Given the description of an element on the screen output the (x, y) to click on. 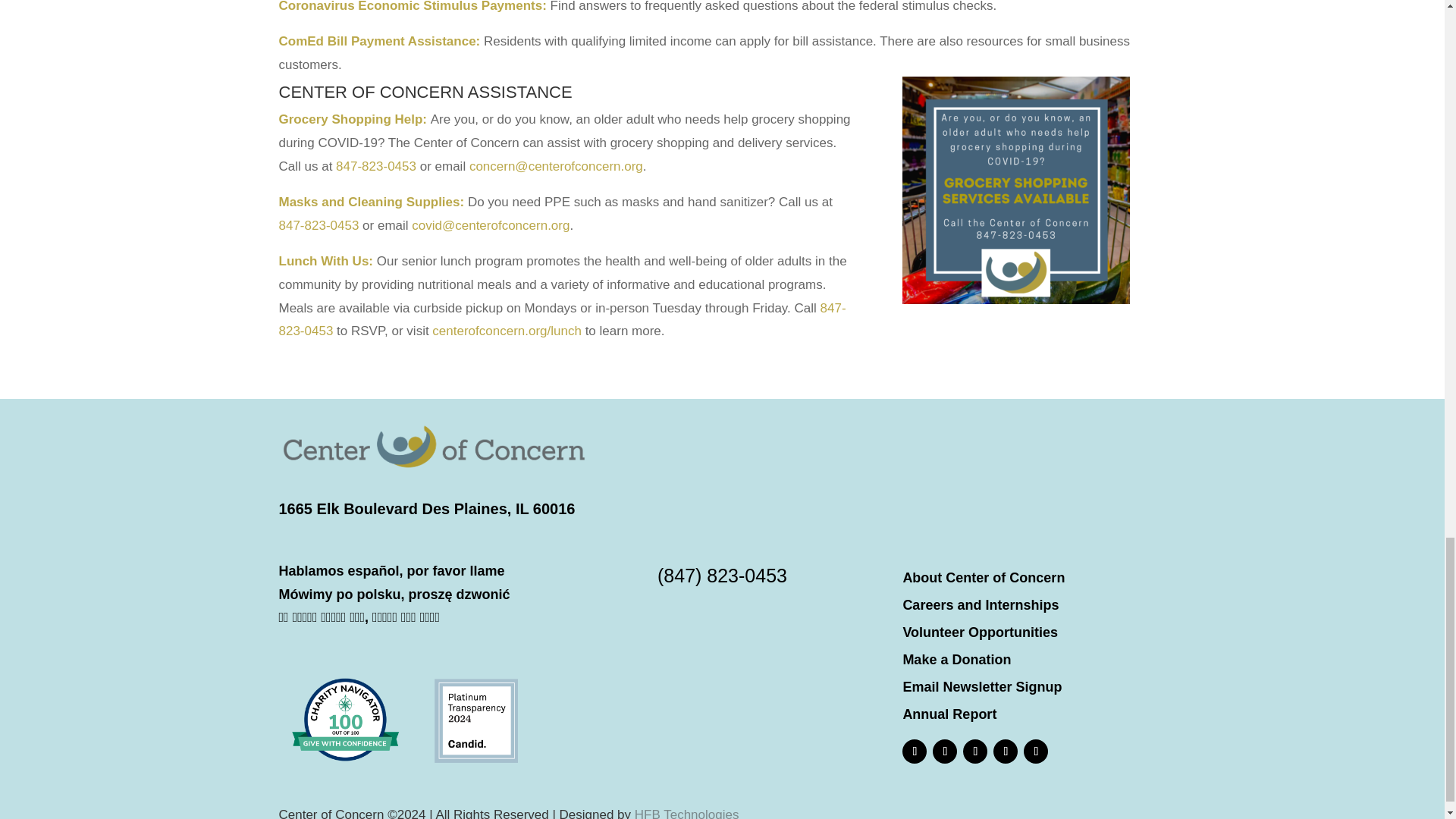
Center of Concern logo simple transparent (434, 446)
CoC-footer-images-2024 (410, 719)
Follow on Instagram (944, 751)
Follow on Facebook (914, 751)
